Given the description of an element on the screen output the (x, y) to click on. 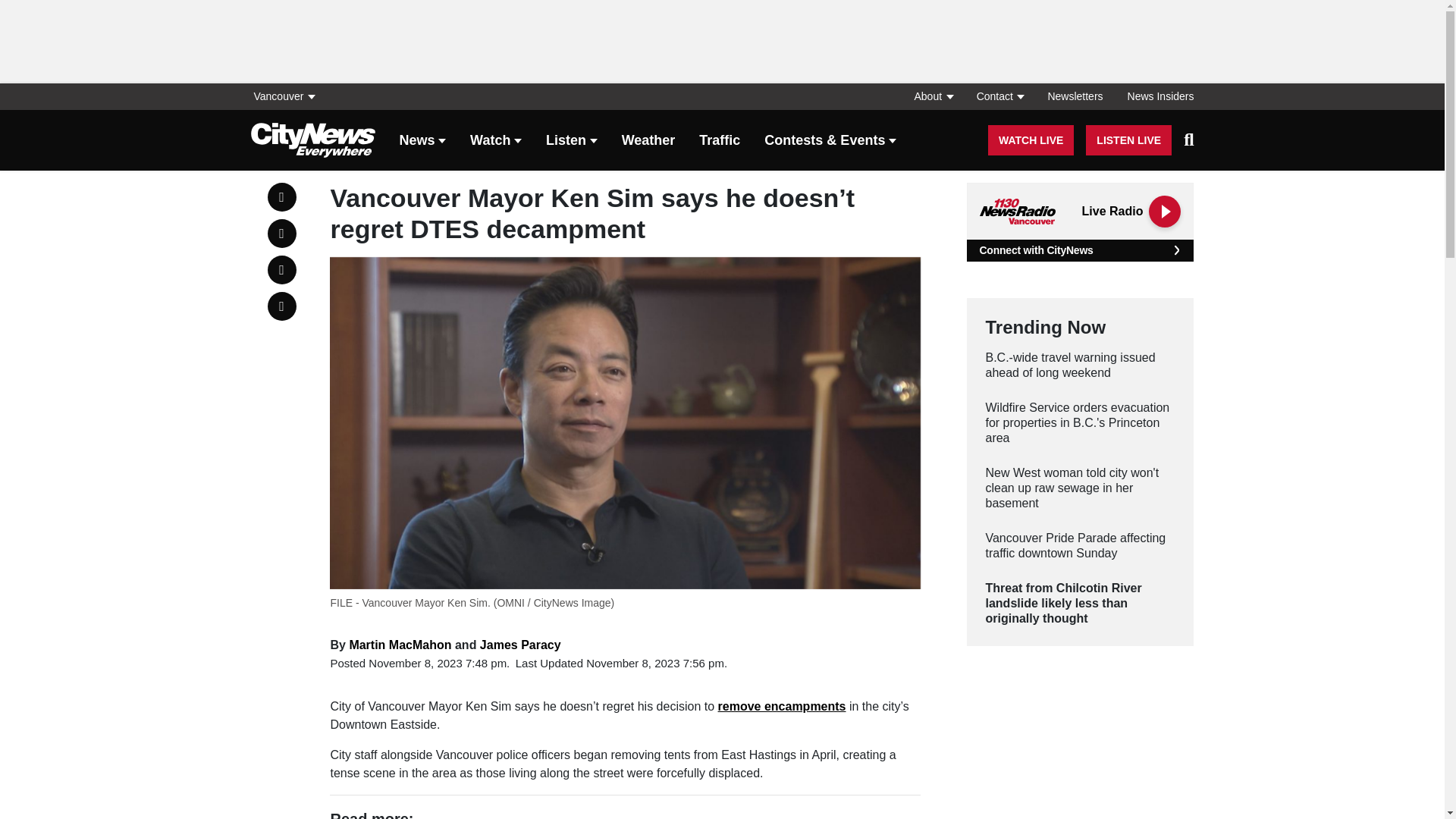
Contact (999, 96)
Vancouver (287, 96)
Watch (495, 140)
About (932, 96)
Newsletters (1075, 96)
B.C.-wide travel warning issued ahead of long weekend (1079, 365)
News Insiders (1154, 96)
News (421, 140)
Listen (571, 140)
